Given the description of an element on the screen output the (x, y) to click on. 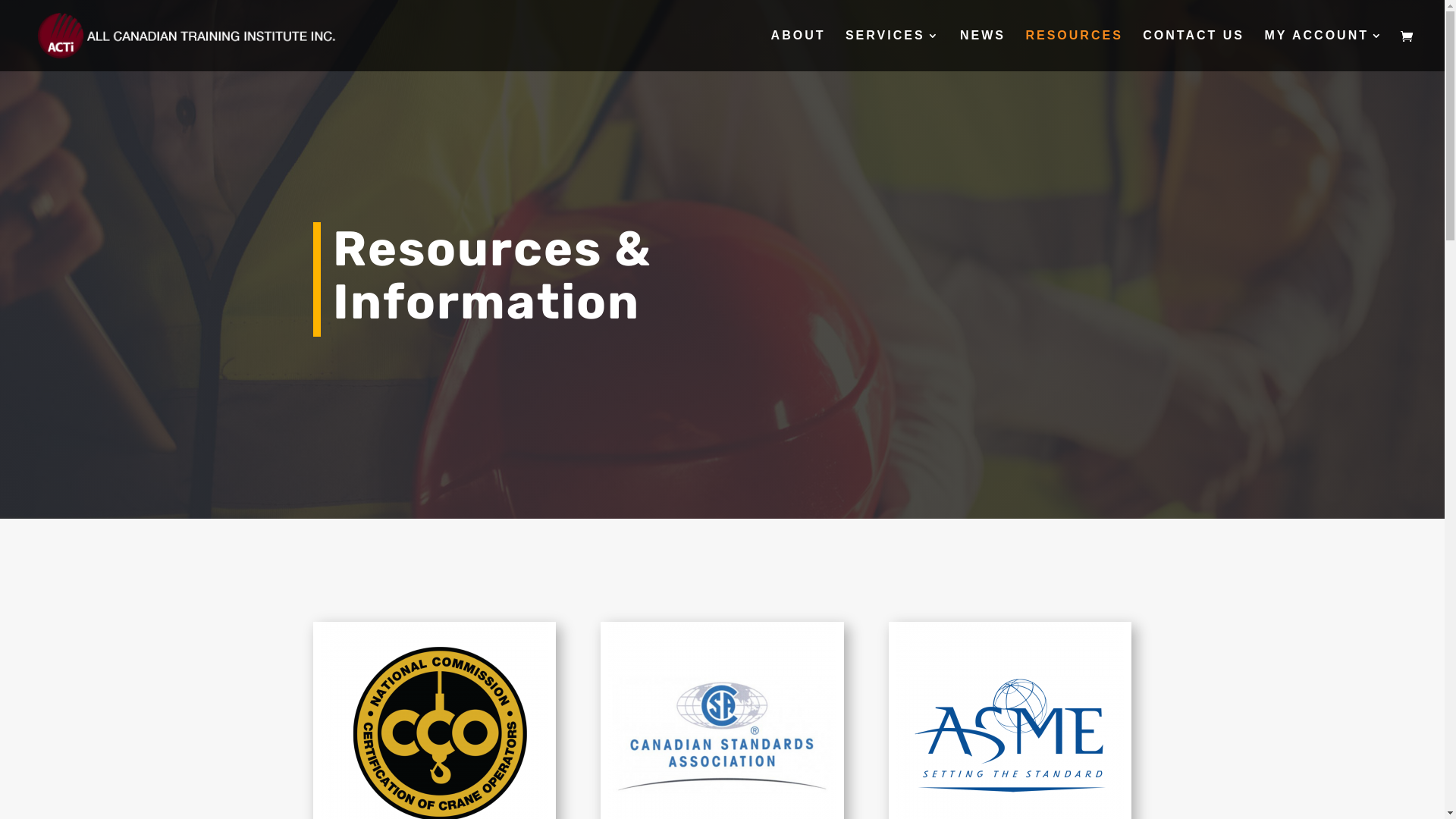
MY ACCOUNT Element type: text (1323, 50)
RESOURCES Element type: text (1073, 50)
CONTACT US Element type: text (1193, 50)
SERVICES Element type: text (892, 50)
ABOUT Element type: text (798, 50)
NEWS Element type: text (982, 50)
